Given the description of an element on the screen output the (x, y) to click on. 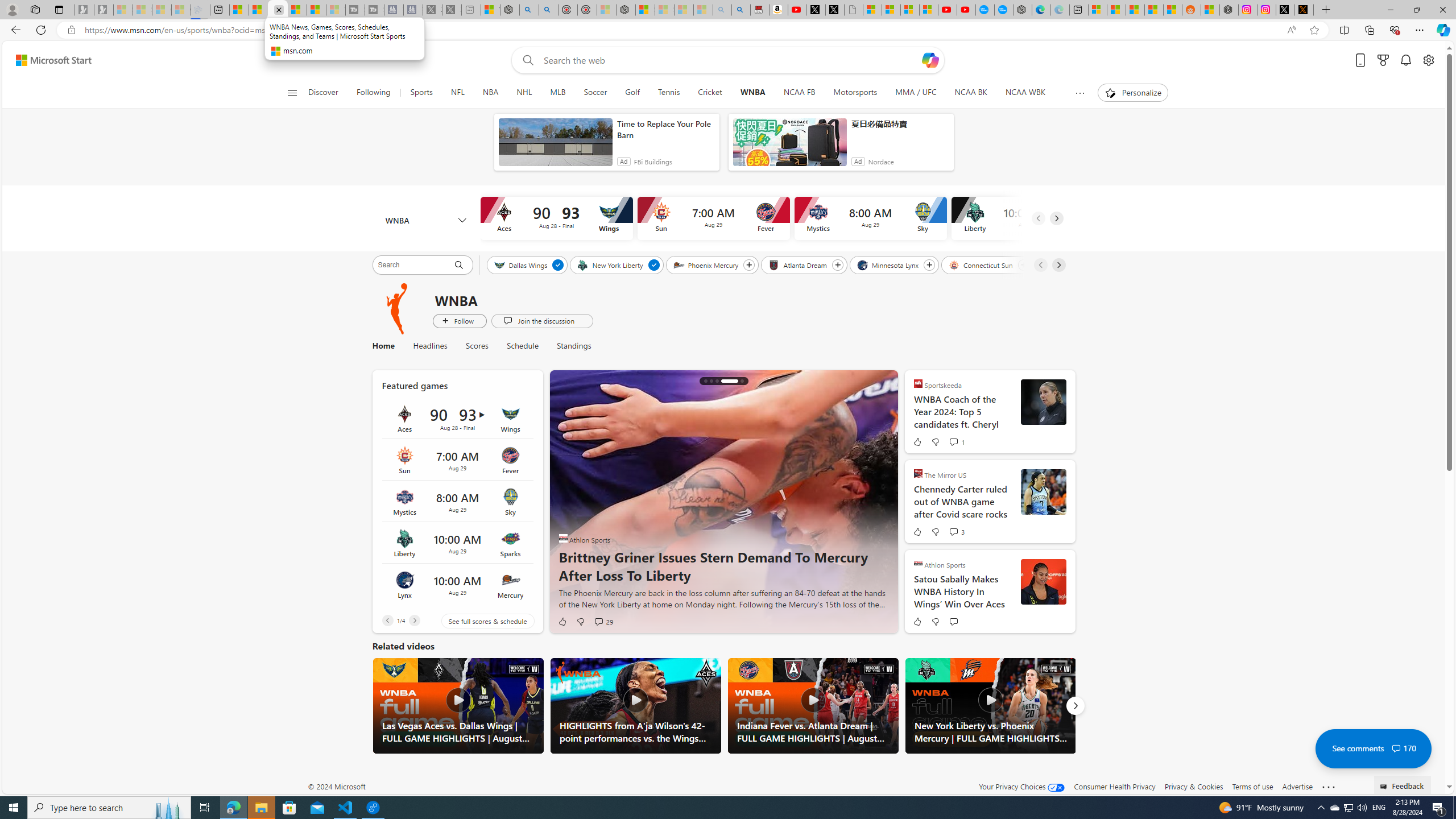
amazon - Search - Sleeping (721, 9)
Class: oneFooter_seeMore-DS-EntryPoint1-1 (1328, 786)
NBA (490, 92)
YouTube Kids - An App Created for Kids to Explore Content (965, 9)
Untitled (853, 9)
Wildlife - MSN (490, 9)
Microsoft rewards (1382, 60)
Golf (632, 92)
Aces 90 vs Wings 93Final Date Aug 28 (456, 418)
Terms of use (1252, 786)
Microsoft account | Microsoft Account Privacy Settings (1097, 9)
